Given the description of an element on the screen output the (x, y) to click on. 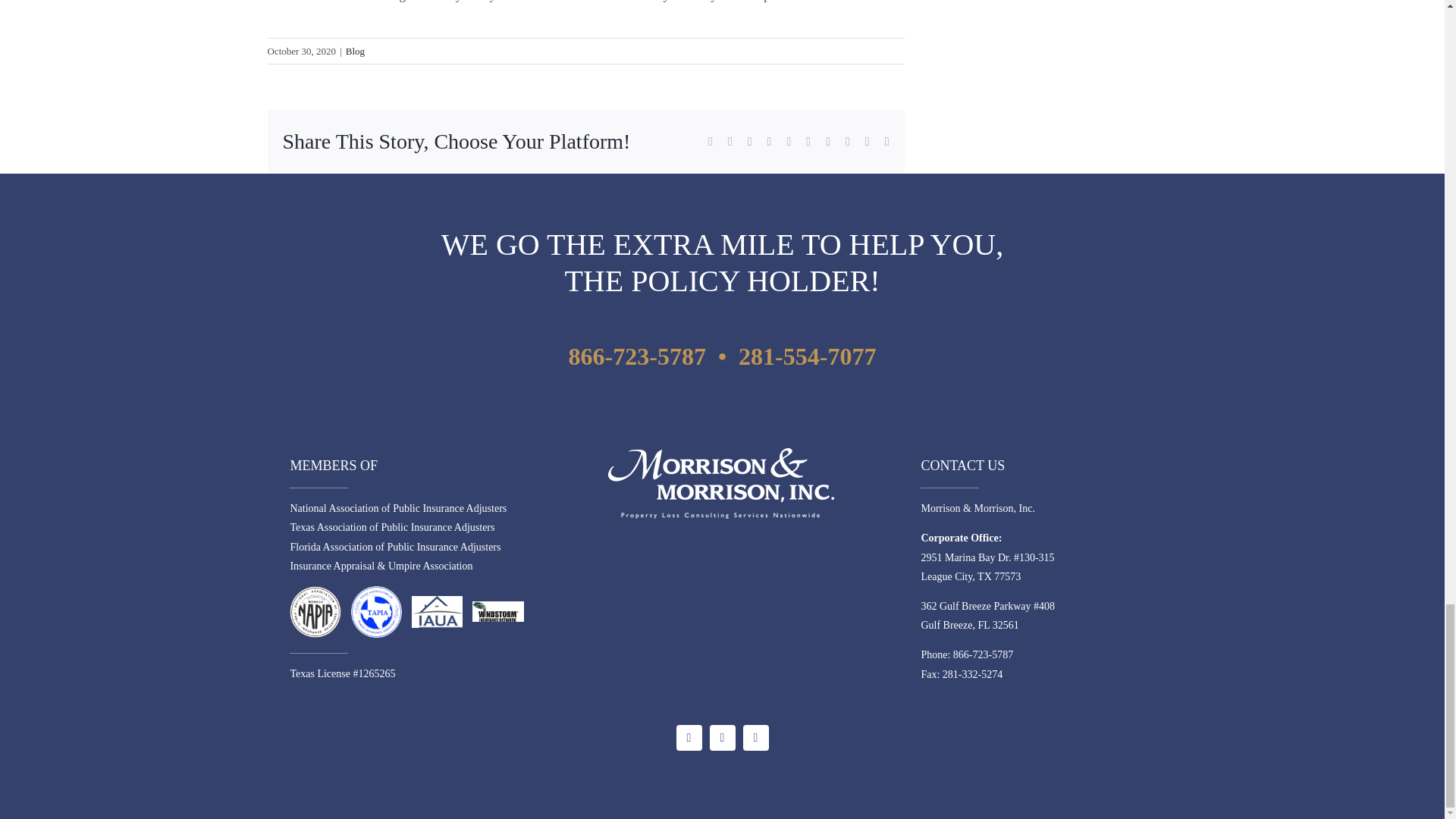
logo2 (376, 612)
IAUA-footer (437, 611)
logo1 (314, 612)
Facebook (689, 737)
YouTube (722, 737)
WINDlogotrademark200x80 (497, 611)
MM-LOGO-stacked-white (721, 482)
Blog (355, 50)
